Given the description of an element on the screen output the (x, y) to click on. 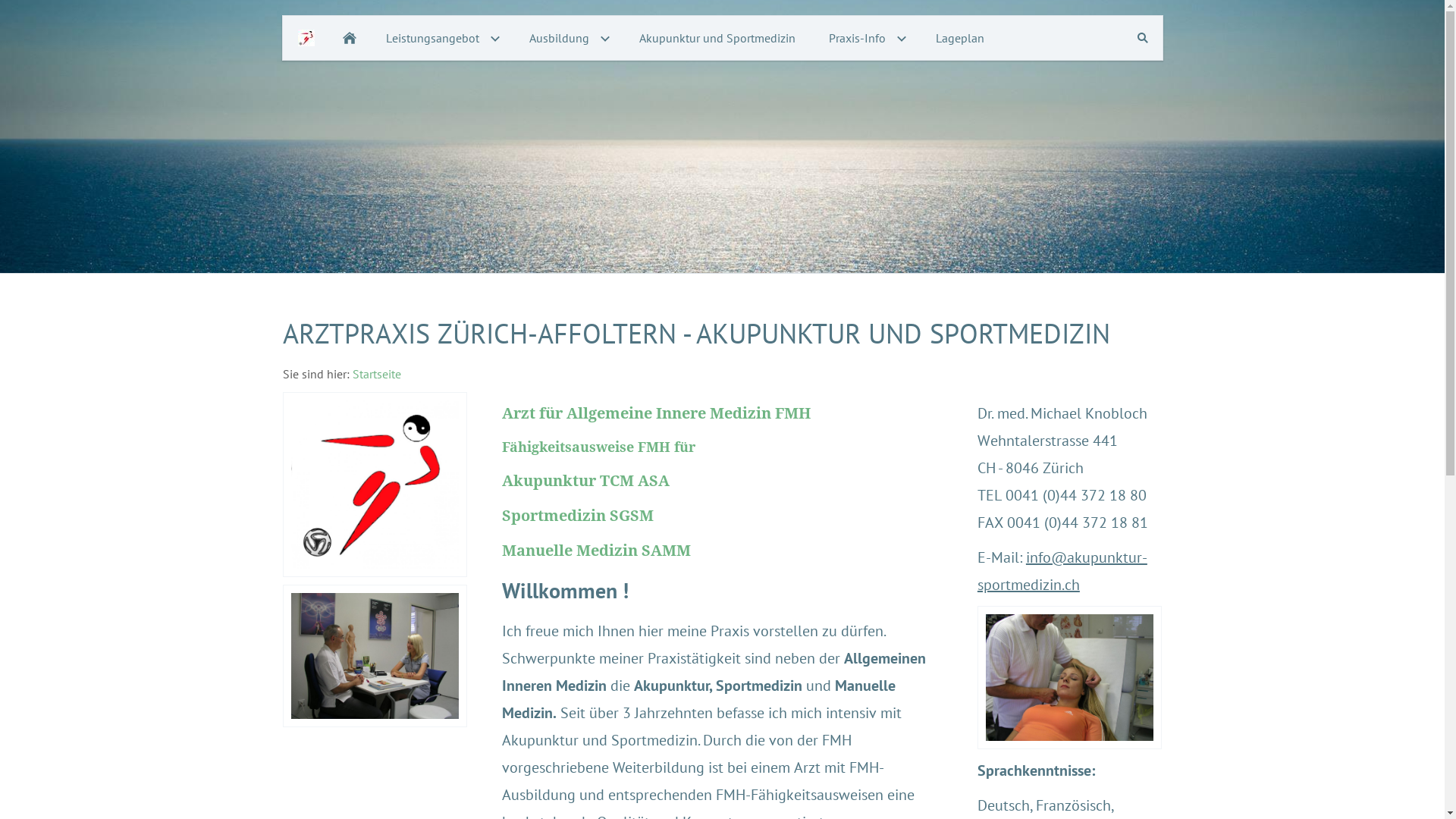
Leistungsangebot Element type: text (439, 37)
Startseite Element type: text (375, 373)
Akupunktur und Sportmedizin Element type: text (716, 37)
Praxis-Info Element type: text (864, 37)
info@akupunktur-sportmedizin.ch Element type: text (1062, 572)
Ausbildung Element type: text (567, 37)
Lageplan Element type: text (960, 37)
